Given the description of an element on the screen output the (x, y) to click on. 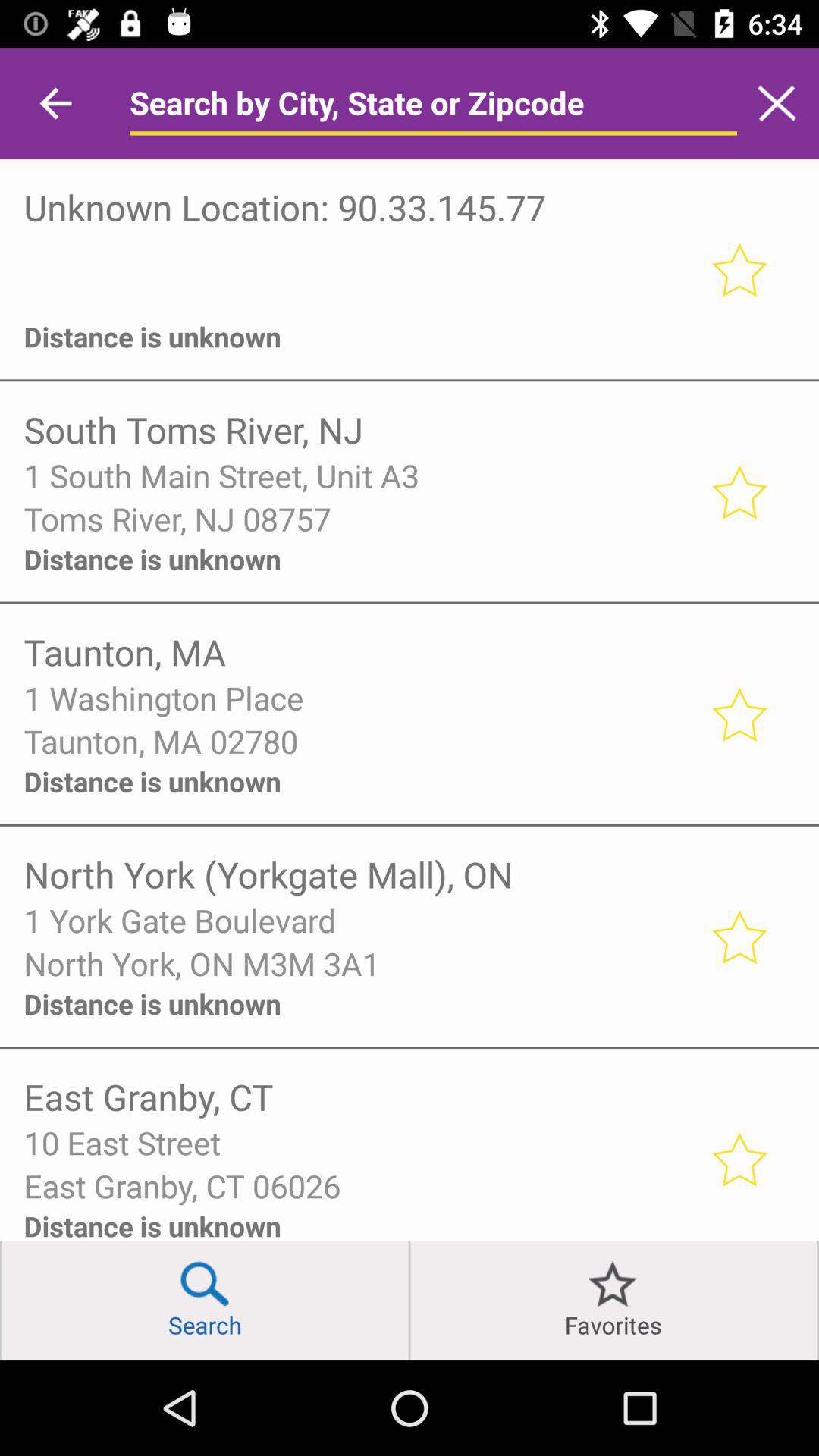
search location (433, 103)
